Given the description of an element on the screen output the (x, y) to click on. 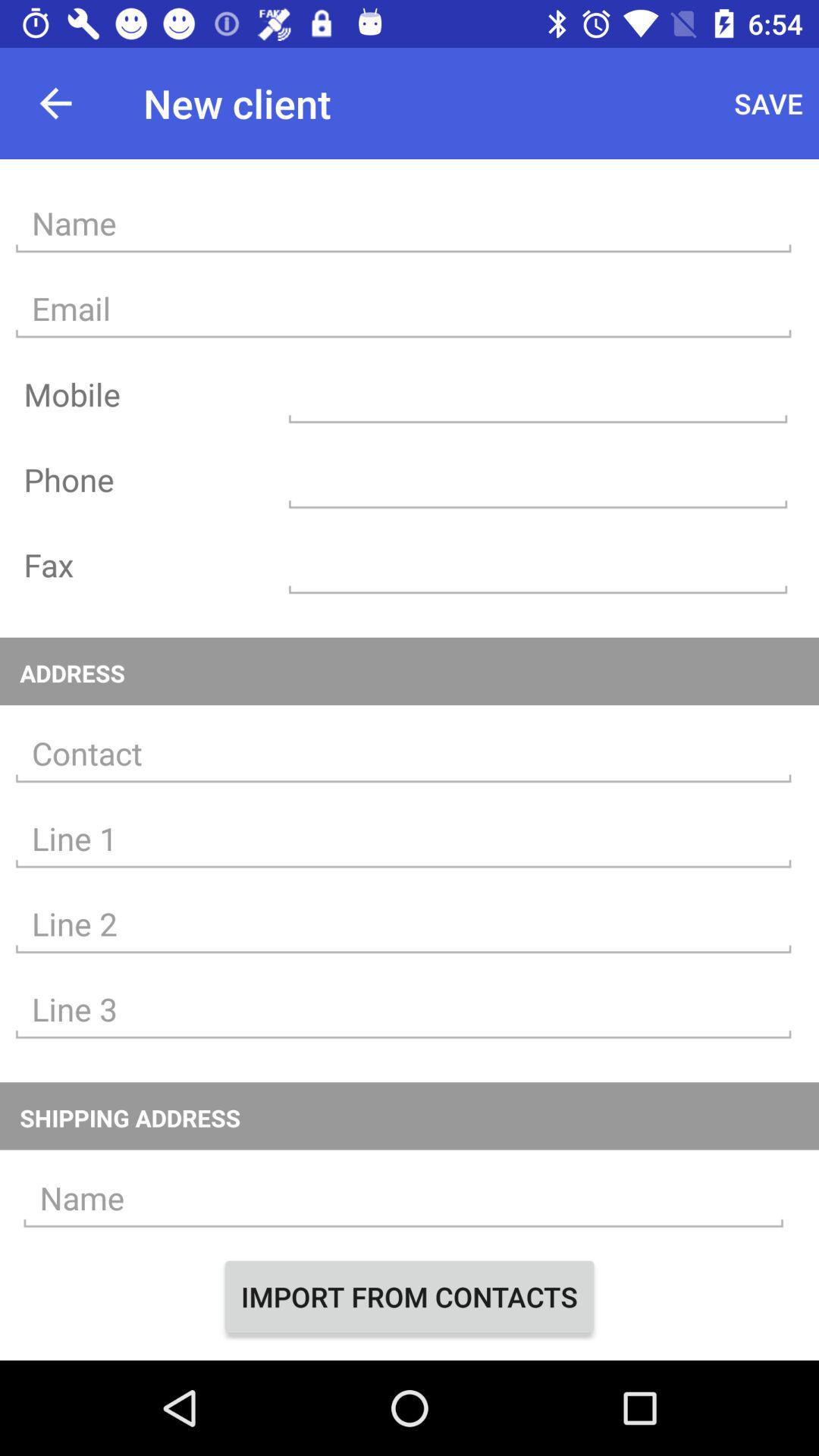
select the item next to new client item (768, 103)
